Given the description of an element on the screen output the (x, y) to click on. 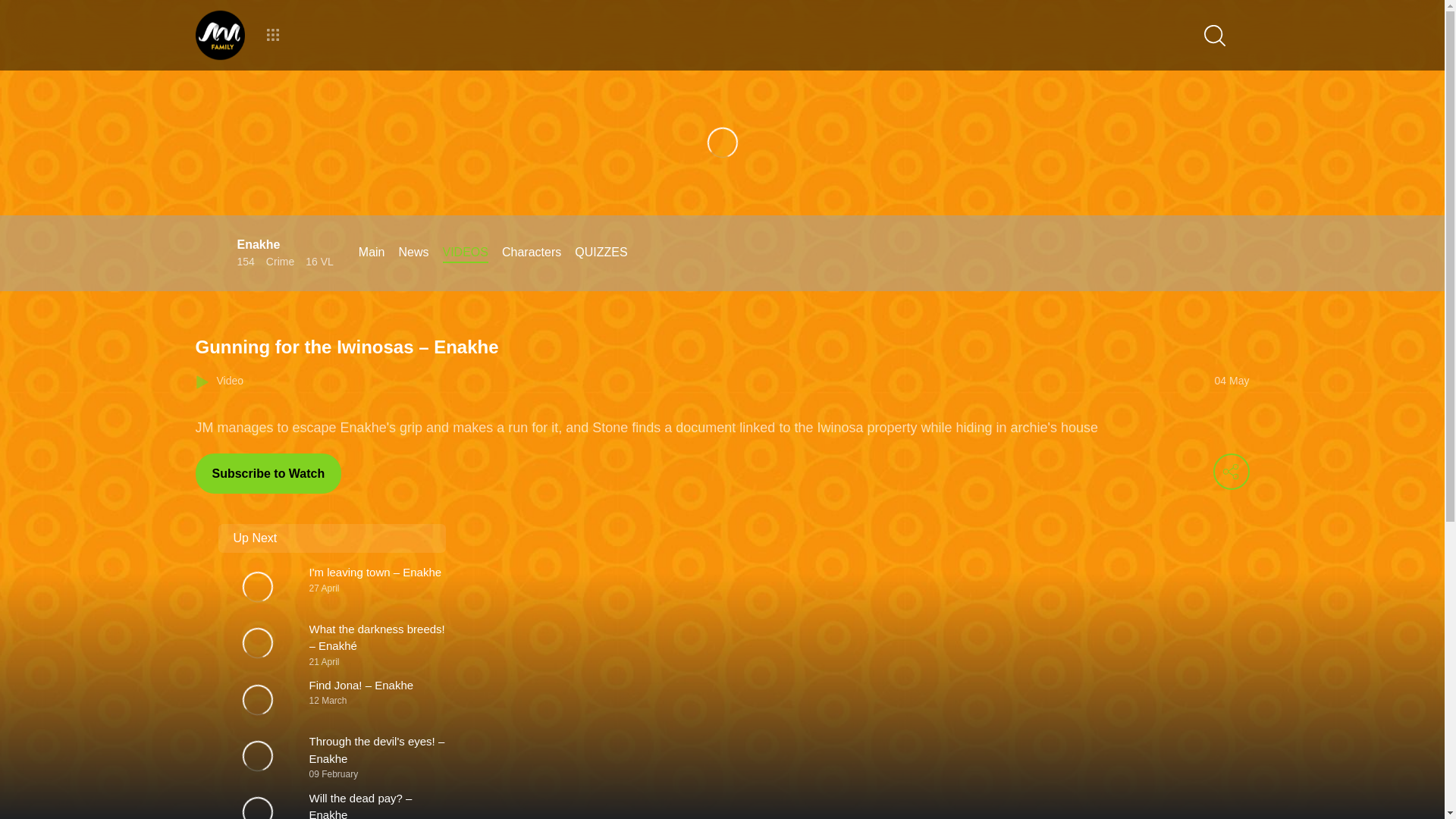
Characters (531, 252)
Main (371, 252)
VIDEOS (464, 252)
News (412, 252)
Subscribe to Watch (268, 473)
QUIZZES (601, 252)
